Given the description of an element on the screen output the (x, y) to click on. 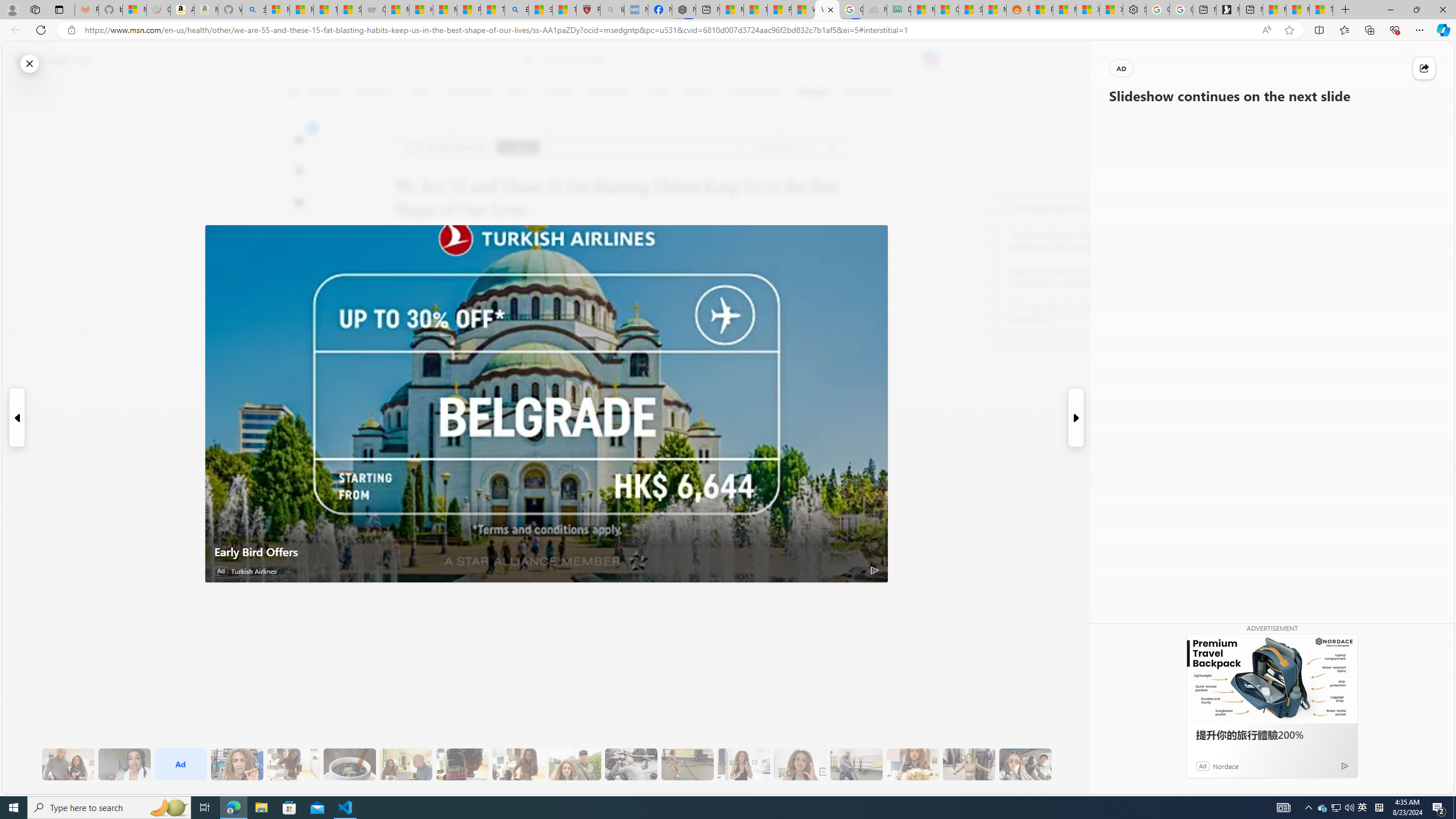
13 Her Husband Does Group Cardio Classs (855, 764)
Early Bird Offers (546, 403)
16 The Couple's Program Helps with Accountability (1024, 764)
2 They Use Protein Powder for Flavor (237, 764)
3 They Drink Lemon Tea (293, 764)
1 We Eat a Protein-Packed Pre-Workout Snack (124, 764)
2 They Use Protein Powder for Flavor (237, 764)
7 They Don't Skip Meals (518, 764)
